Given the description of an element on the screen output the (x, y) to click on. 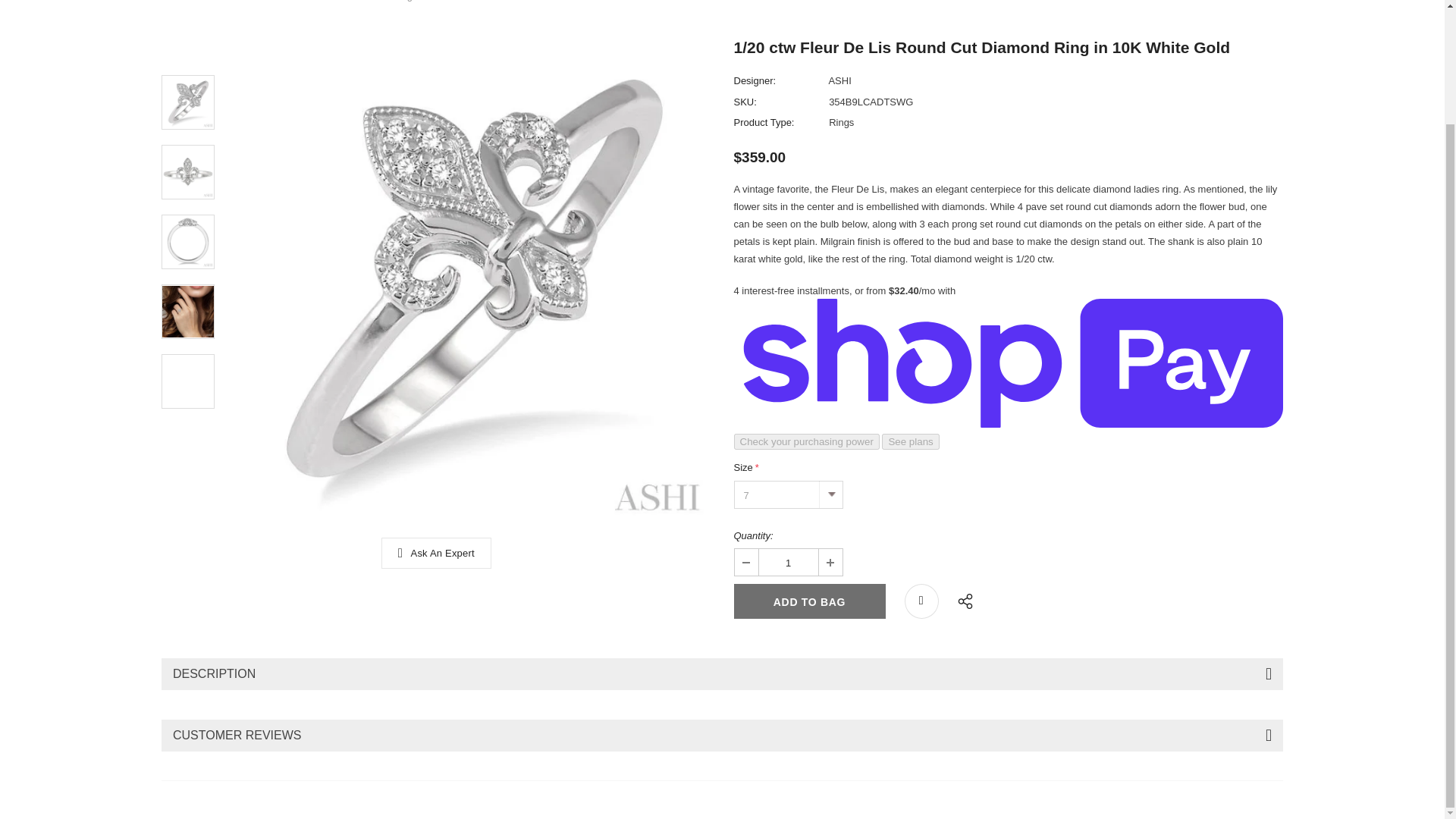
Add to Bag (809, 601)
1 (787, 561)
